Given the description of an element on the screen output the (x, y) to click on. 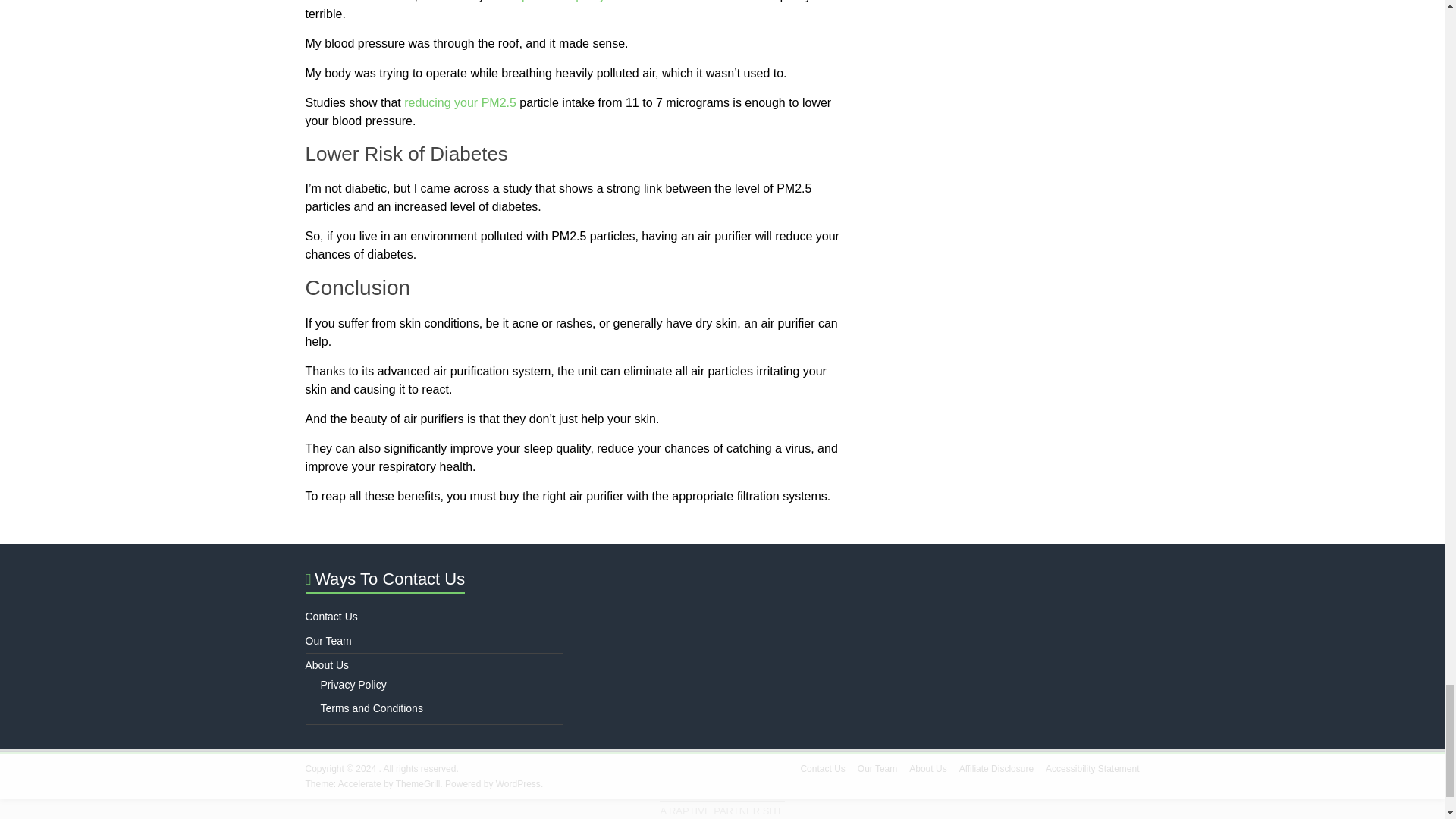
air purifier to purify the air in Delhi (595, 1)
WordPress (518, 783)
reducing your PM2.5 (460, 102)
Contact Us (330, 616)
Our Team (327, 640)
Accelerate (359, 783)
